Given the description of an element on the screen output the (x, y) to click on. 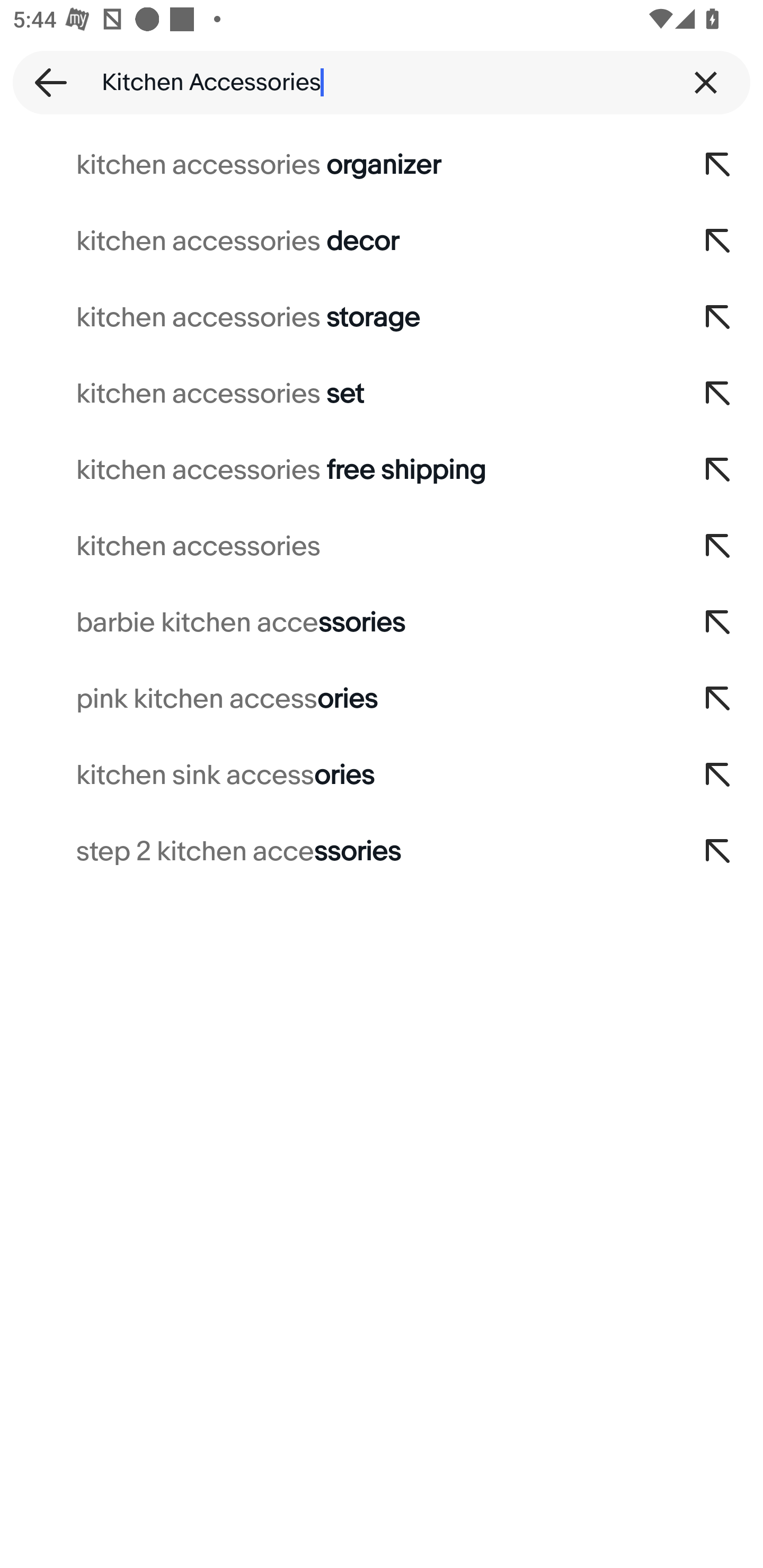
Back (44, 82)
Clear query (705, 82)
Kitchen Accessories (381, 82)
kitchen accessories organizer (336, 165)
Add to search query,kitchen accessories organizer (718, 165)
kitchen accessories decor (336, 241)
Add to search query,kitchen accessories decor (718, 241)
kitchen accessories storage (336, 317)
Add to search query,kitchen accessories storage (718, 317)
kitchen accessories set (336, 393)
Add to search query,kitchen accessories set (718, 393)
kitchen accessories free shipping (336, 470)
kitchen accessories (336, 546)
Add to search query,kitchen accessories (718, 546)
barbie kitchen accessories (336, 622)
Add to search query,barbie kitchen accessories (718, 622)
pink kitchen accessories (336, 698)
Add to search query,pink kitchen accessories (718, 698)
kitchen sink accessories (336, 774)
Add to search query,kitchen sink accessories (718, 774)
step 2 kitchen accessories (336, 851)
Add to search query,step 2 kitchen accessories (718, 851)
